Given the description of an element on the screen output the (x, y) to click on. 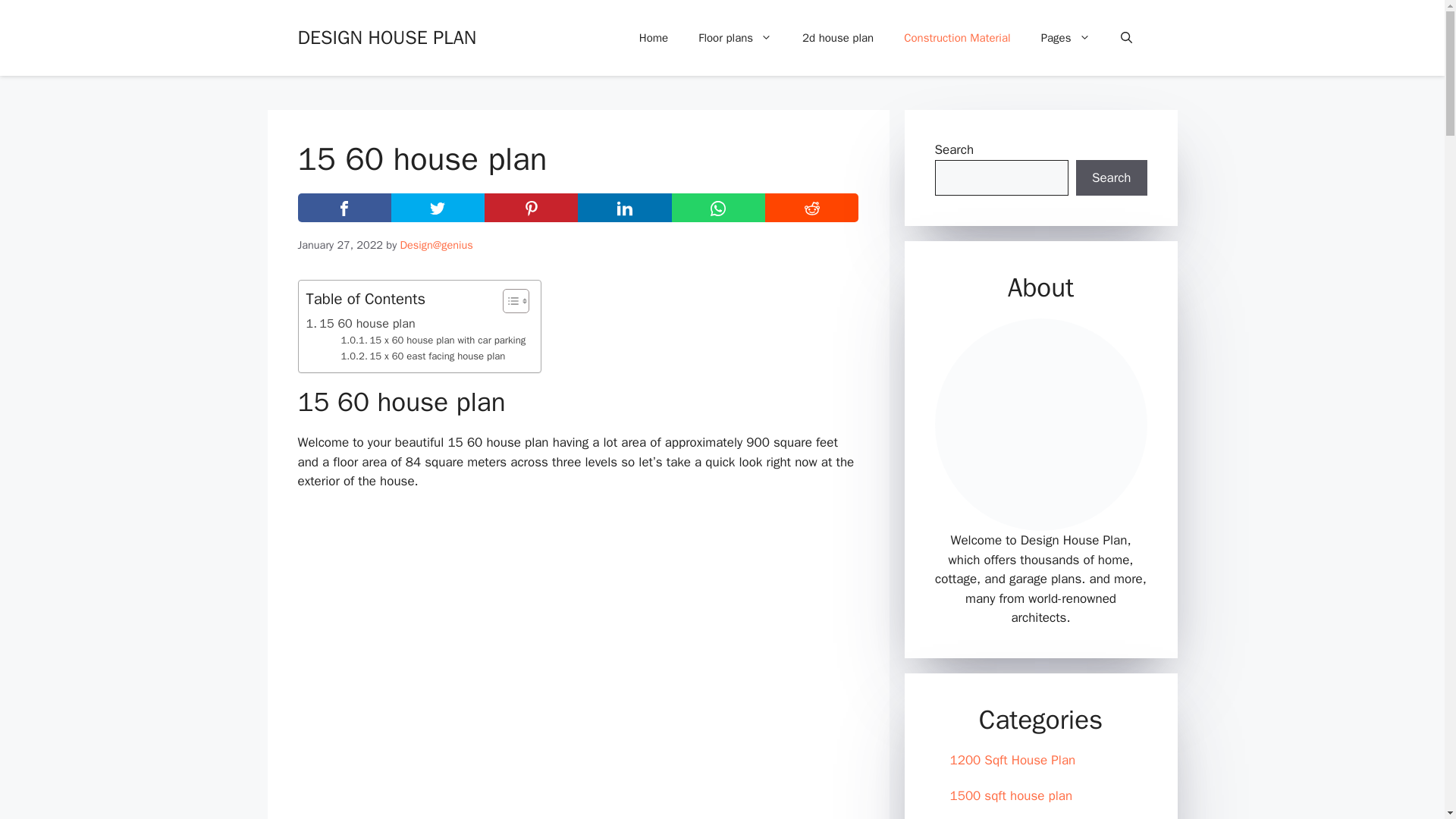
Home (653, 37)
15 60 house plan (359, 323)
15 x 60 house plan with car parking (432, 340)
Construction Material (956, 37)
15 x 60 east facing house plan (422, 356)
2d house plan (837, 37)
15 60 house plan (359, 323)
Advertisement (578, 616)
Floor plans (734, 37)
DESIGN HOUSE PLAN (386, 37)
